Given the description of an element on the screen output the (x, y) to click on. 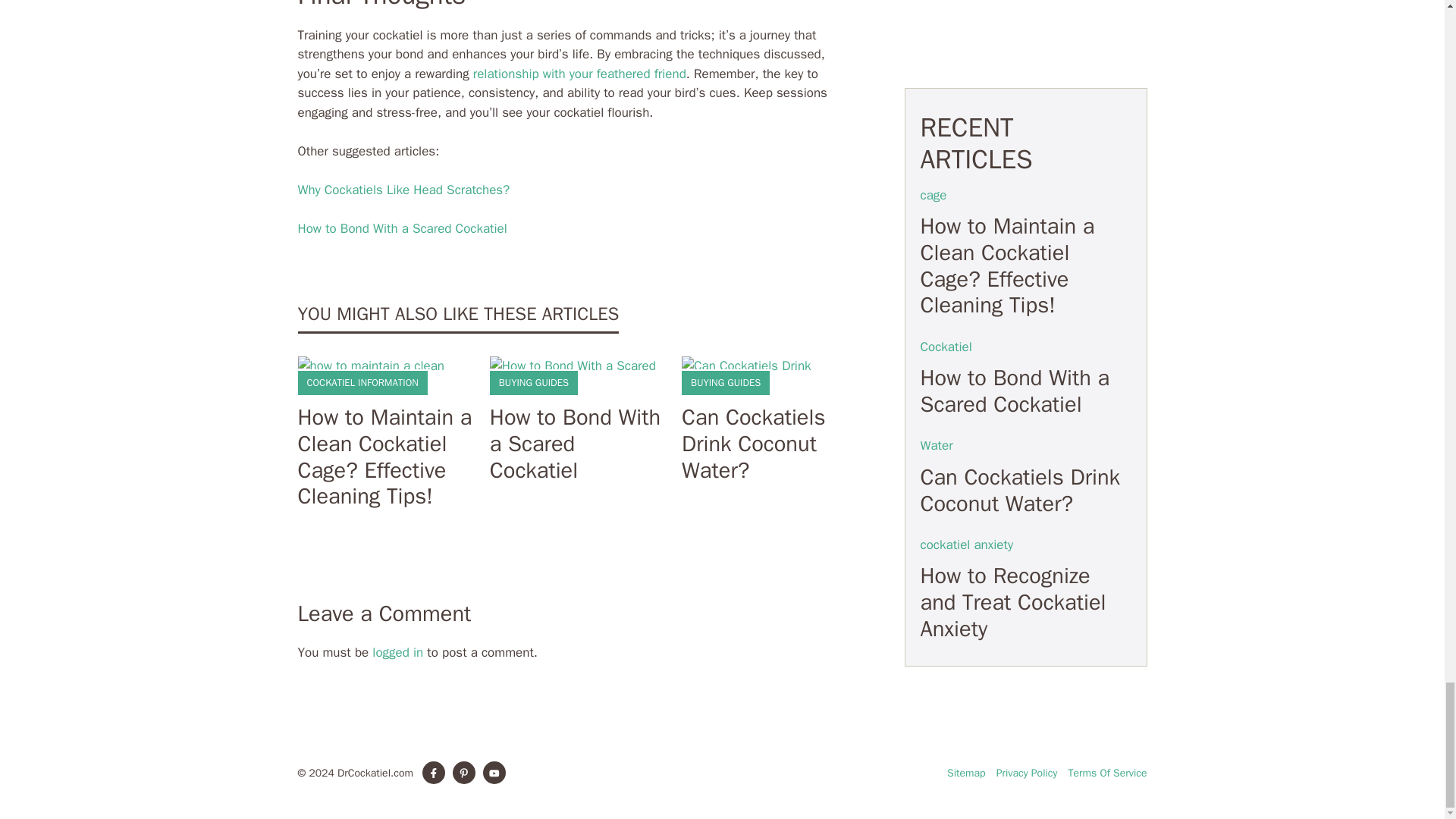
Can Cockatiels Drink Coconut Water? (753, 443)
BUYING GUIDES (534, 382)
Why Cockatiels Like Head Scratches? (403, 189)
COCKATIEL INFORMATION (361, 382)
How to Bond With a Scared Cockatiel (575, 443)
How to Bond With a Scared Cockatiel (401, 228)
relationship with your feathered friend (579, 73)
BUYING GUIDES (725, 382)
logged in (397, 652)
